Given the description of an element on the screen output the (x, y) to click on. 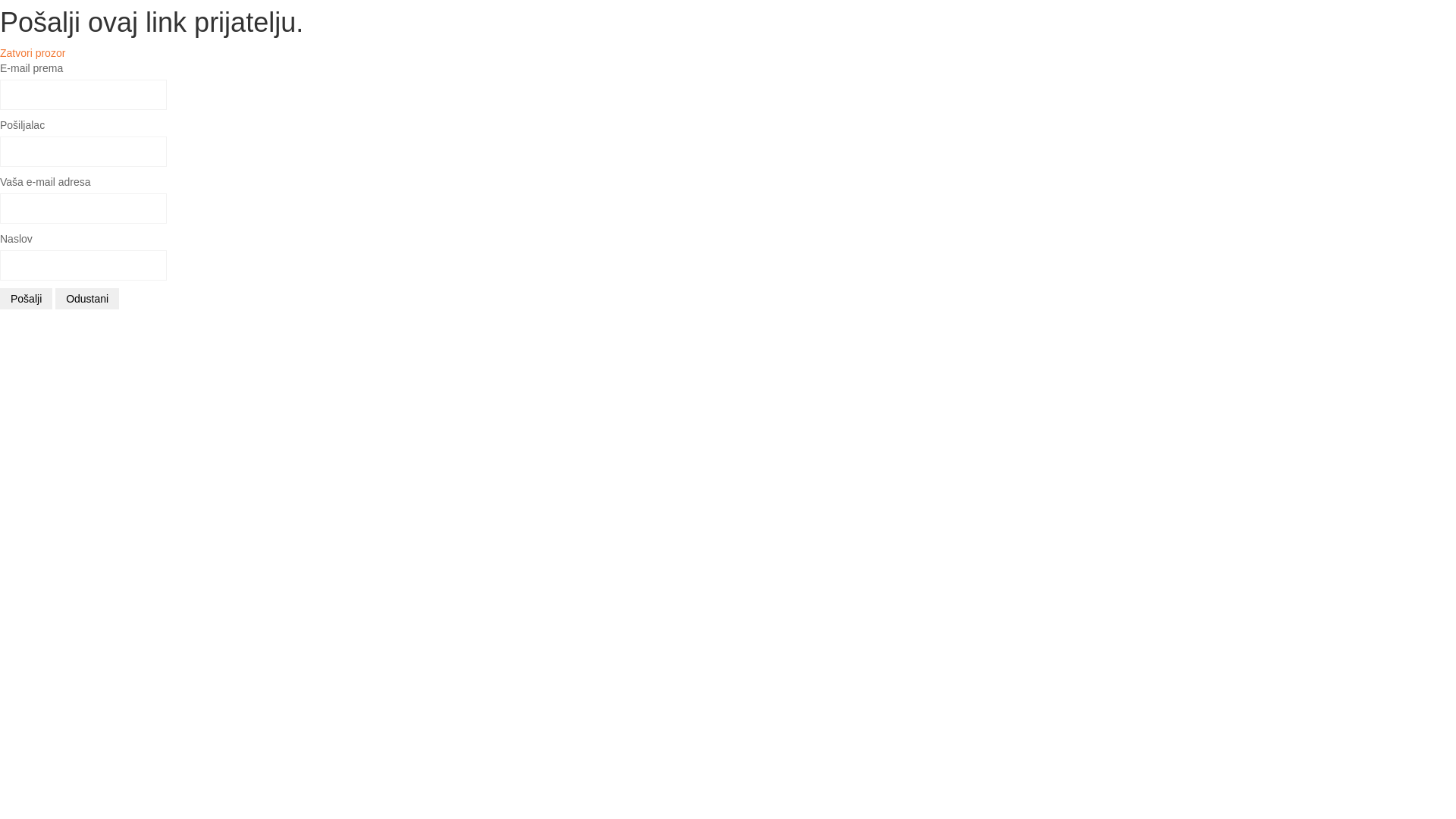
Odustani Element type: text (87, 298)
Zatvori prozor Element type: text (32, 53)
